Given the description of an element on the screen output the (x, y) to click on. 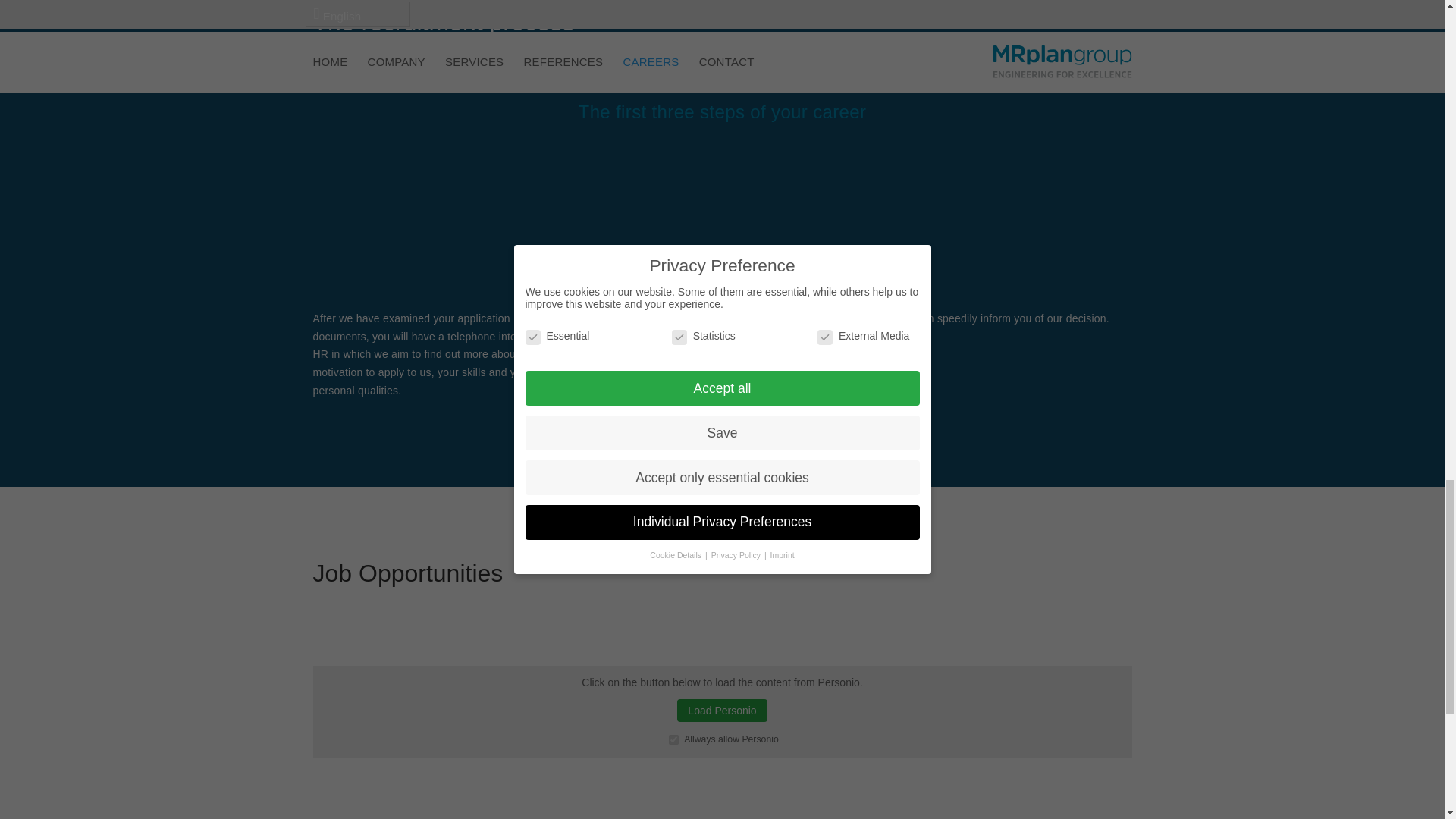
Load Personio (722, 710)
1 (673, 739)
